Given the description of an element on the screen output the (x, y) to click on. 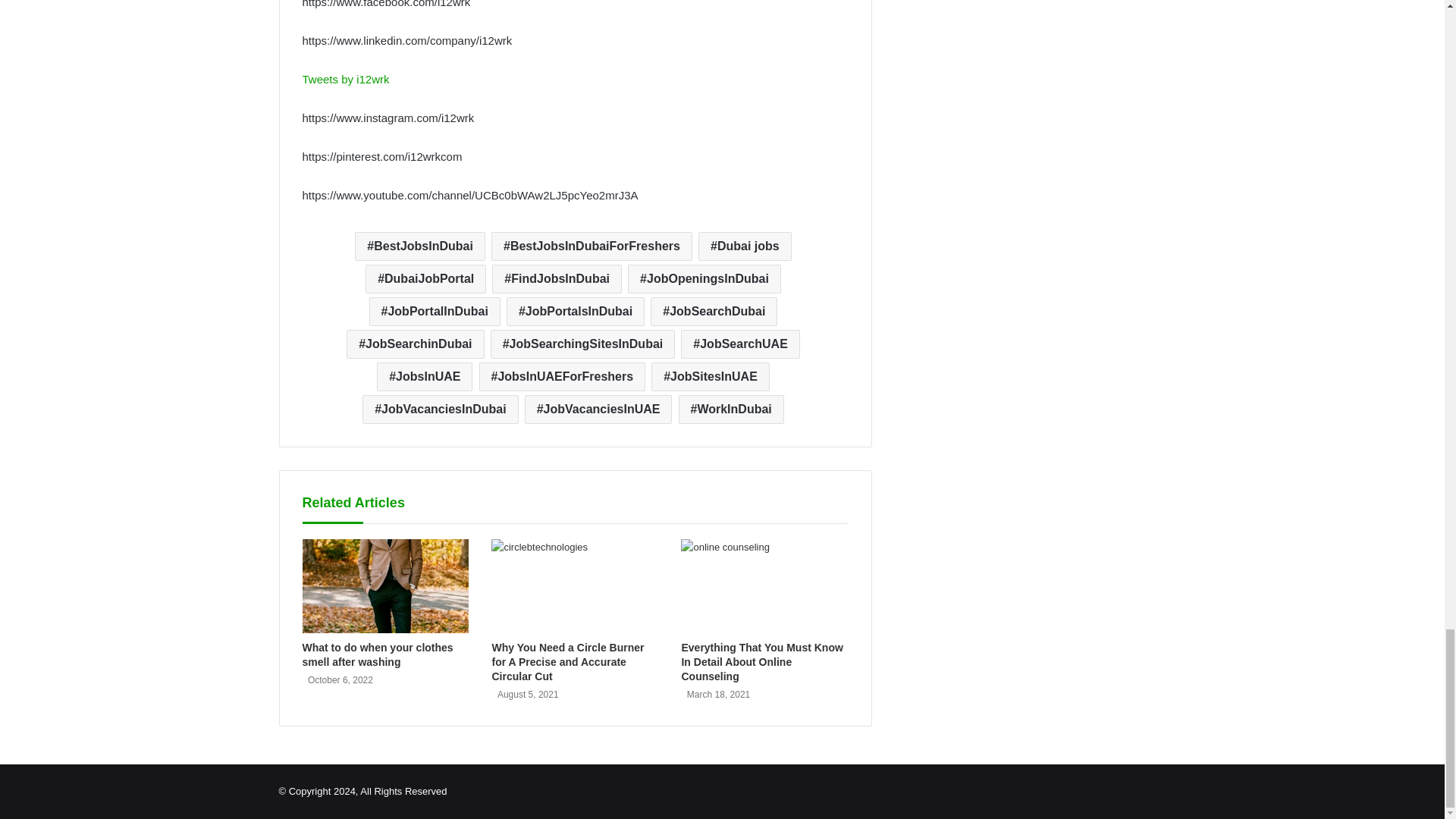
BestJobsInDubai (419, 246)
Tweets by i12wrk (344, 78)
